Given the description of an element on the screen output the (x, y) to click on. 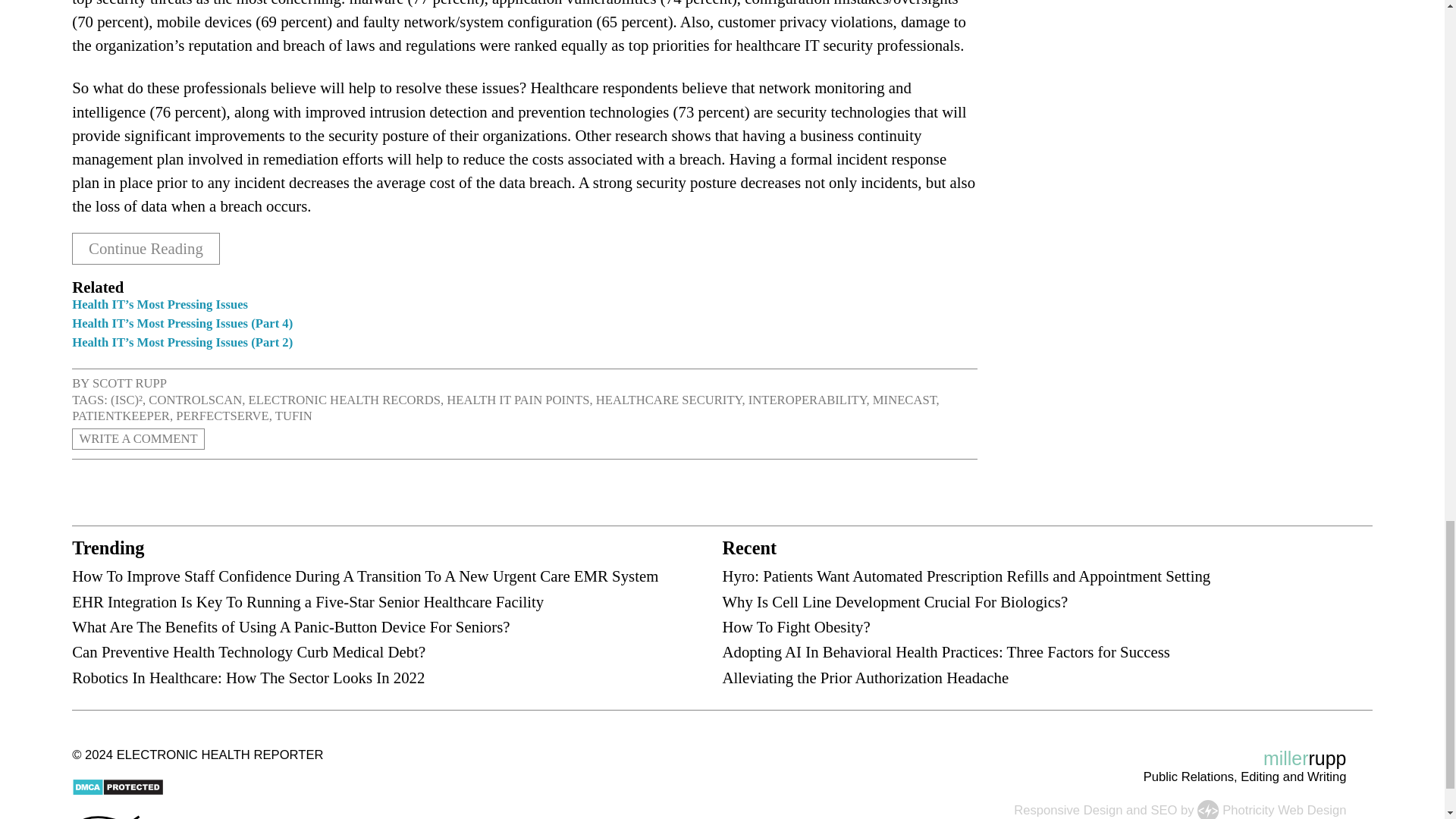
MINECAST (904, 400)
INTEROPERABILITY (807, 400)
PERFECTSERVE (221, 415)
DMCA.com Protection Status (117, 791)
ELECTRONIC HEALTH RECORDS (344, 400)
HEALTHCARE SECURITY (668, 400)
PATIENTKEEPER (120, 415)
CONTROLSCAN (194, 400)
WRITE A COMMENT (138, 438)
Continue Reading (145, 248)
